Given the description of an element on the screen output the (x, y) to click on. 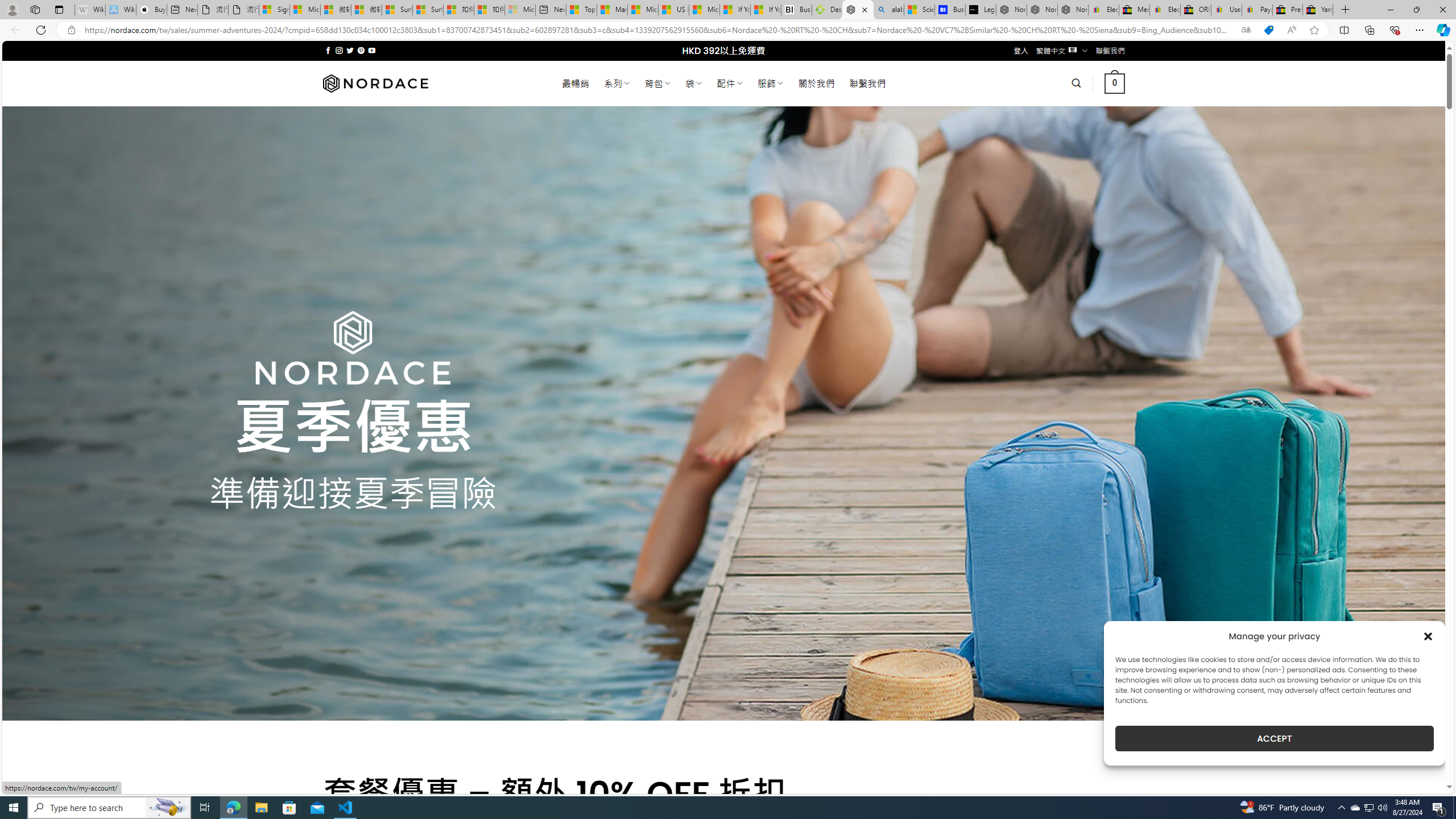
  0   (1115, 83)
Top Stories - MSN (581, 9)
Nordace - Summer Adventures 2024 (857, 9)
alabama high school quarterback dies - Search (887, 9)
Microsoft Services Agreement (304, 9)
Show translate options (1245, 29)
